Given the description of an element on the screen output the (x, y) to click on. 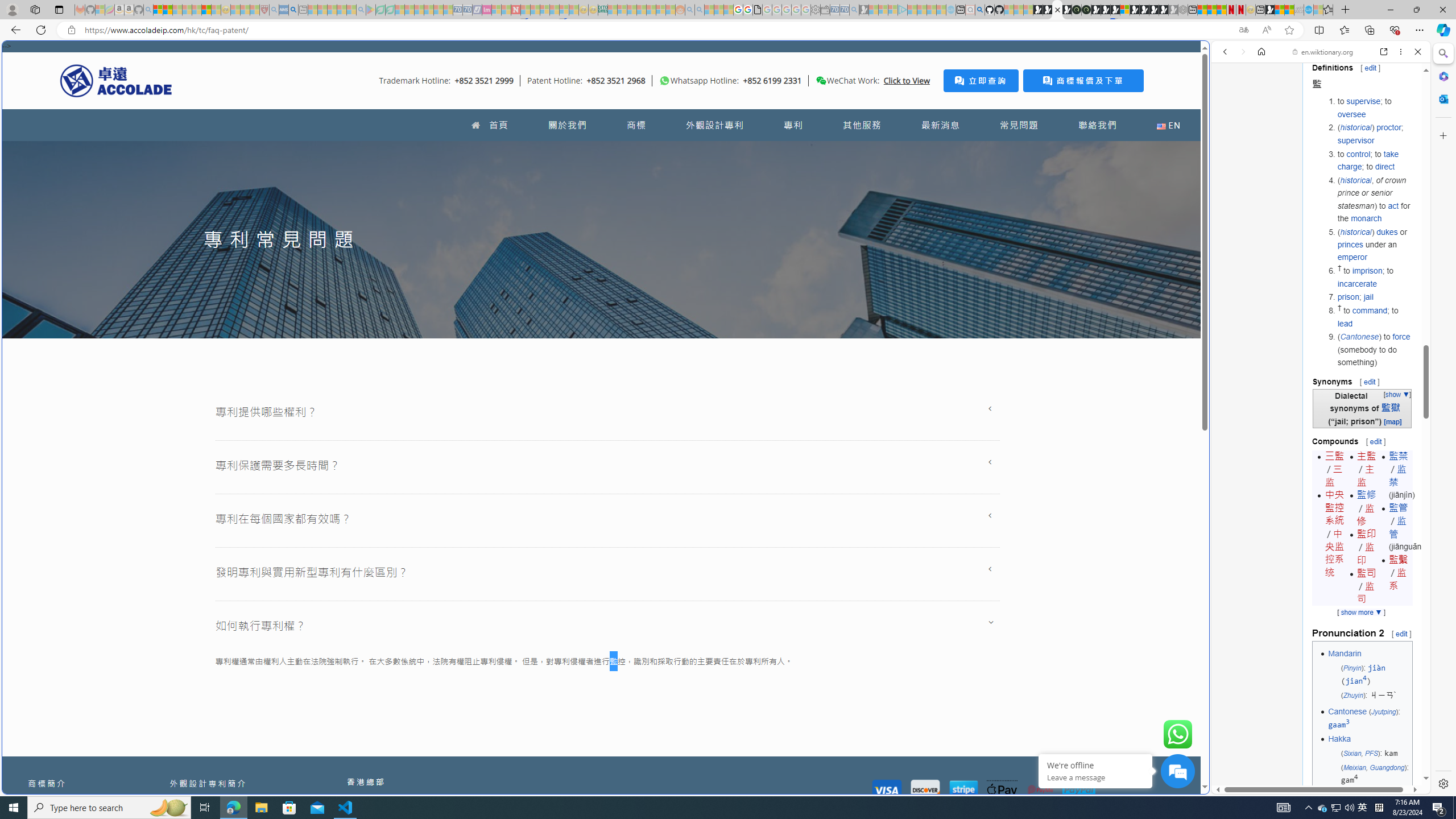
Pinyin (1351, 667)
Hakka(Sixian, PFS): kam(Meixian, Guangdong): gam4 (1368, 759)
control (1358, 153)
